Given the description of an element on the screen output the (x, y) to click on. 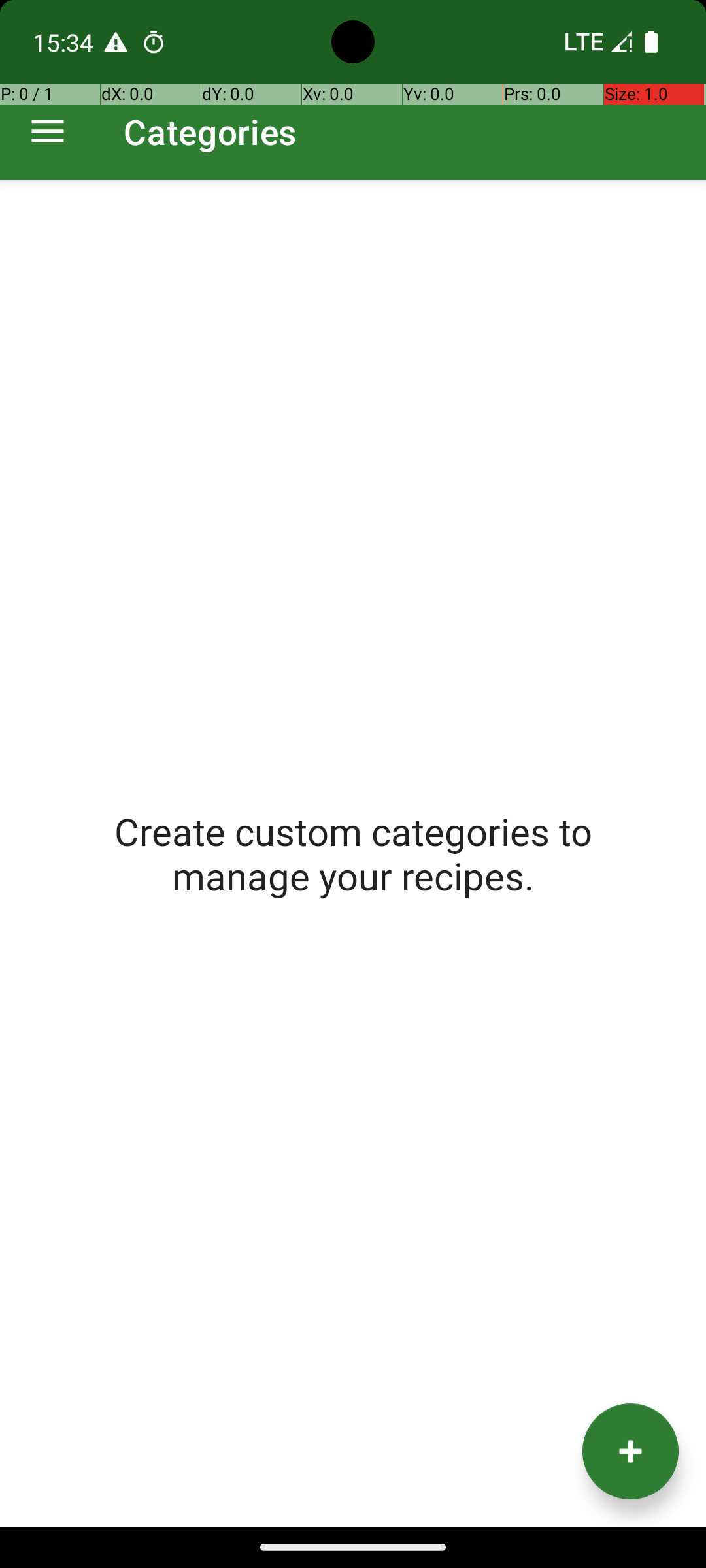
Create custom categories to manage your recipes. Element type: android.widget.TextView (353, 852)
Add category Element type: android.widget.ImageButton (630, 1451)
